Given the description of an element on the screen output the (x, y) to click on. 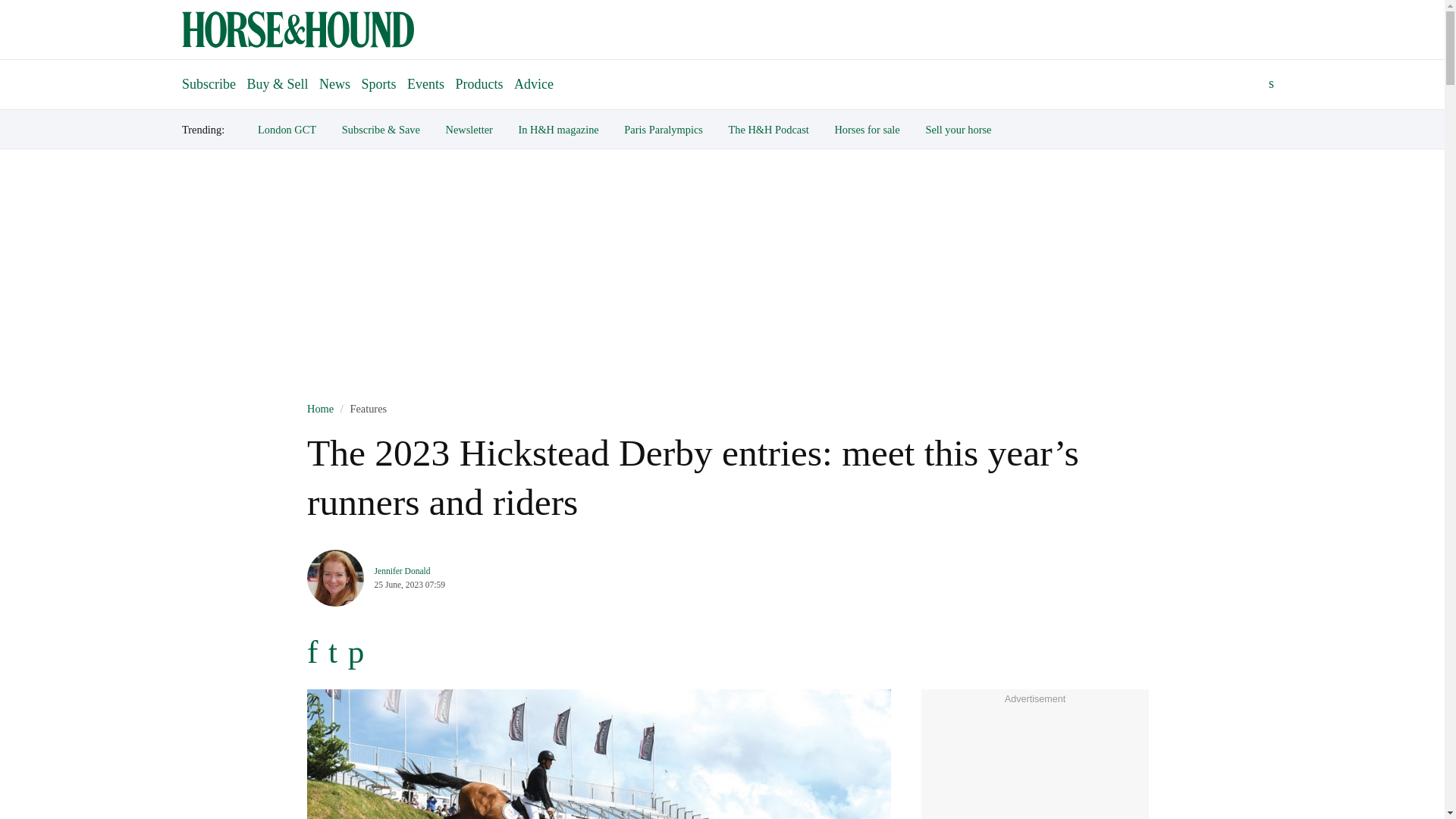
Advice (534, 83)
Subscribe (208, 77)
Products (478, 83)
Events (425, 83)
